Given the description of an element on the screen output the (x, y) to click on. 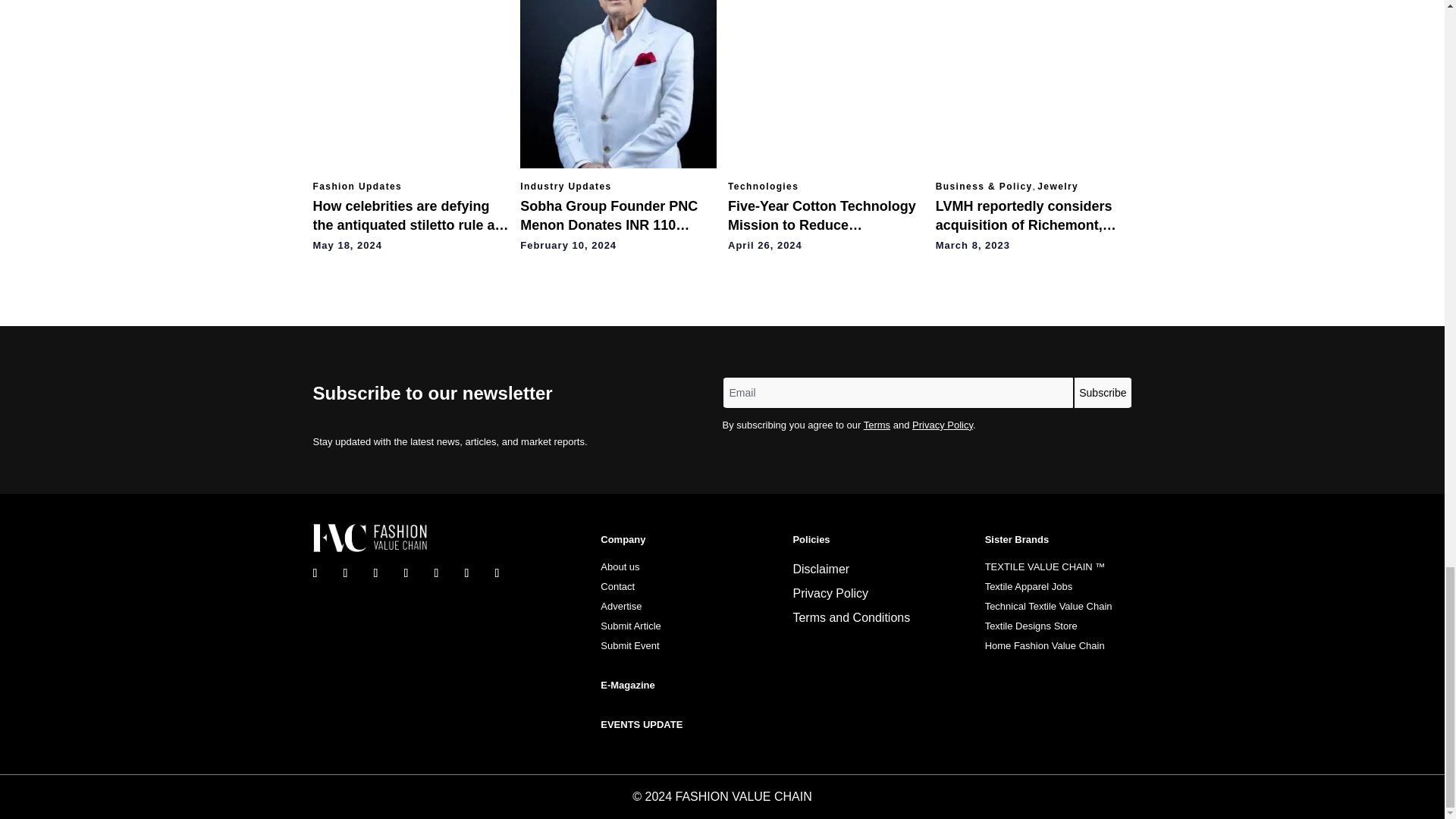
Subscribe (1102, 392)
